Given the description of an element on the screen output the (x, y) to click on. 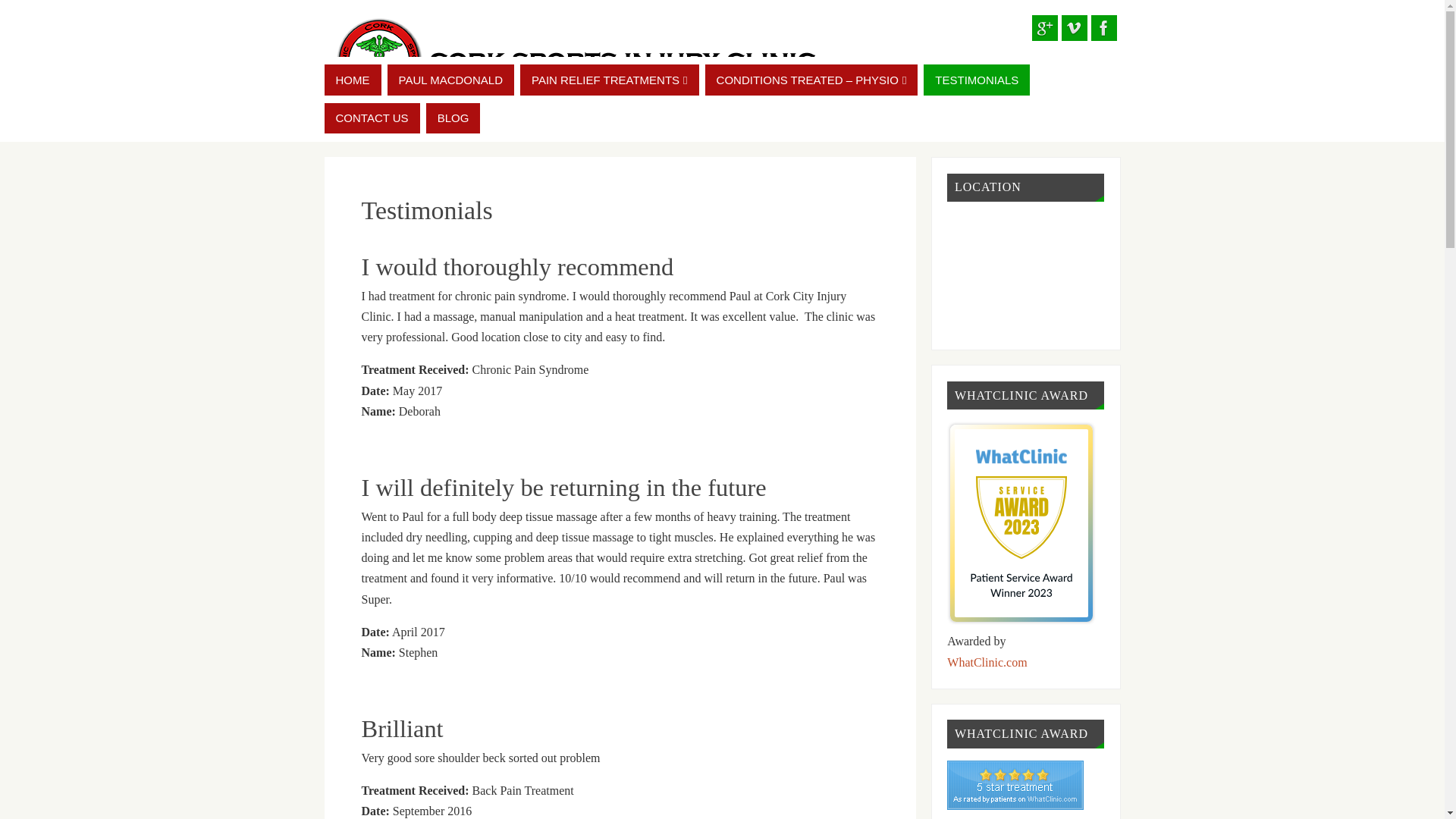
WhatClinic.com (986, 662)
Cork Sports Injury Clinic (1015, 784)
TESTIMONIALS (976, 79)
PAUL MACDONALD (450, 79)
GooglePlus (1043, 27)
Vimeo (1074, 27)
Facebook (1103, 27)
CONTACT US (372, 118)
BLOG (453, 118)
Deep Tissue Massage, Back and Neck Clinic Cork (574, 60)
